Given the description of an element on the screen output the (x, y) to click on. 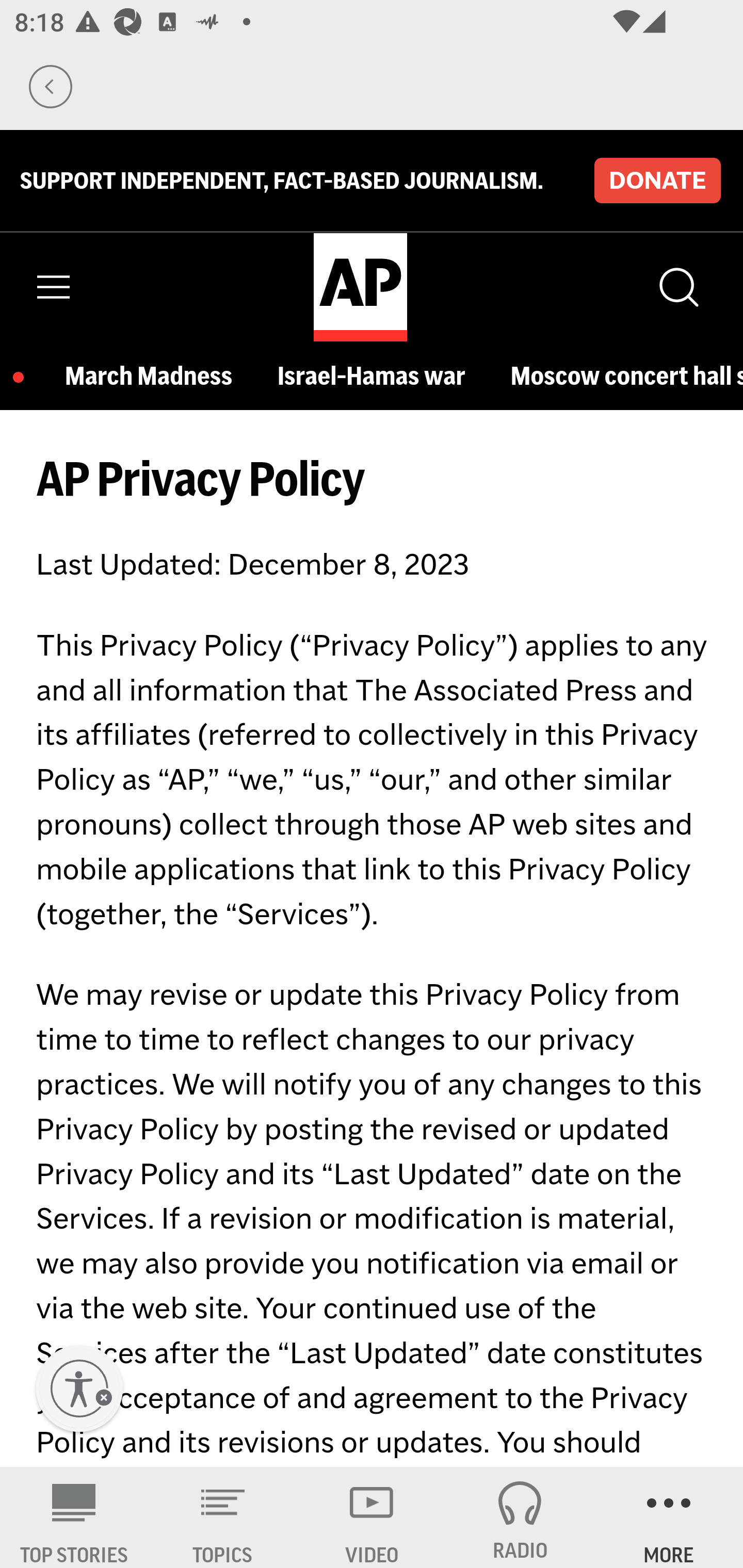
DONATE (657, 179)
home page AP Logo (359, 286)
Menu (54, 286)
Show Search (677, 286)
March Madness (153, 376)
Israel-Hamas war (375, 376)
Moscow concert hall shooting (625, 376)
Enable accessibility (79, 1389)
AP News TOP STORIES (74, 1517)
TOPICS (222, 1517)
VIDEO (371, 1517)
RADIO (519, 1517)
MORE (668, 1517)
